Given the description of an element on the screen output the (x, y) to click on. 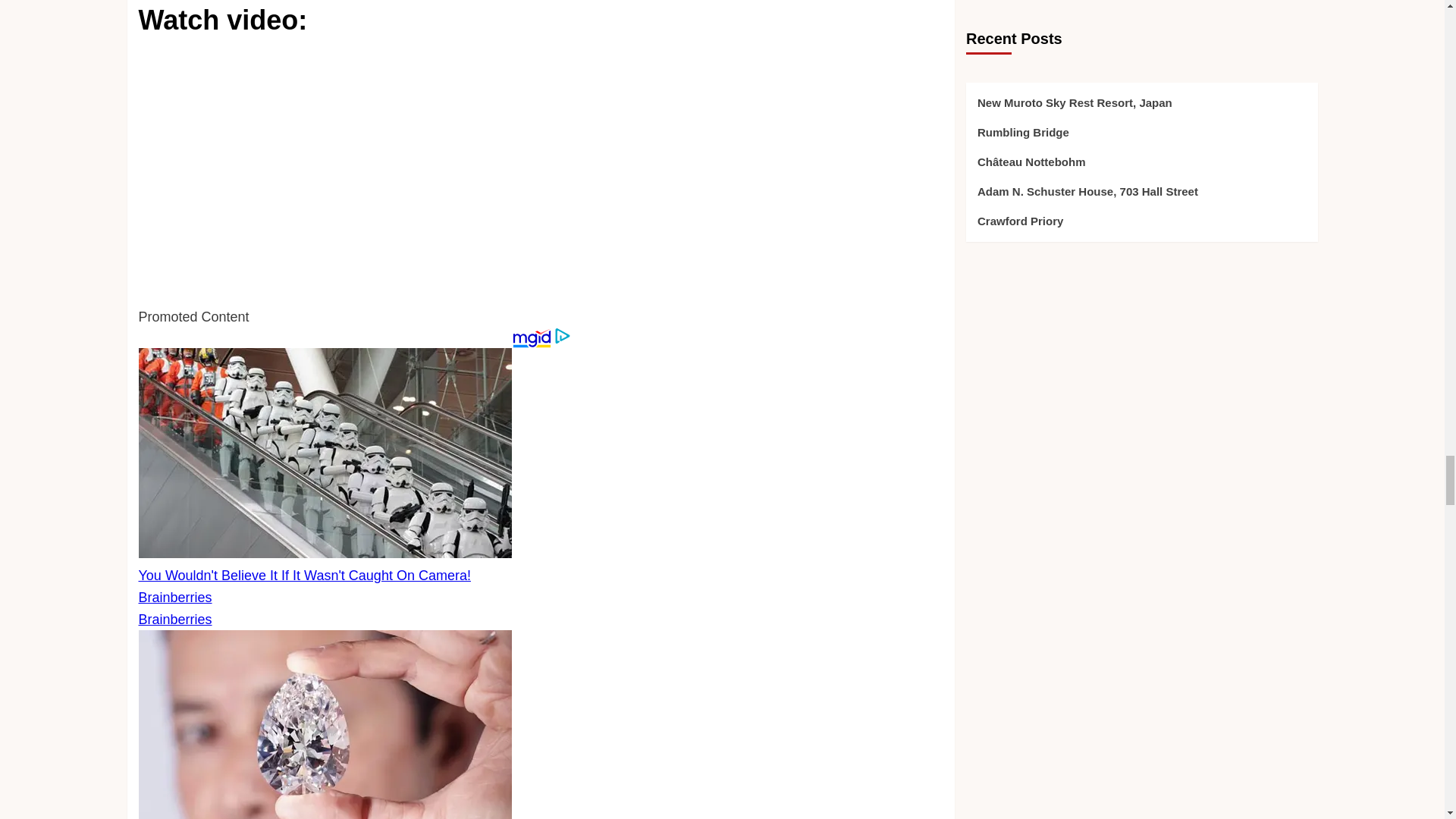
YouTube video player (350, 173)
